Given the description of an element on the screen output the (x, y) to click on. 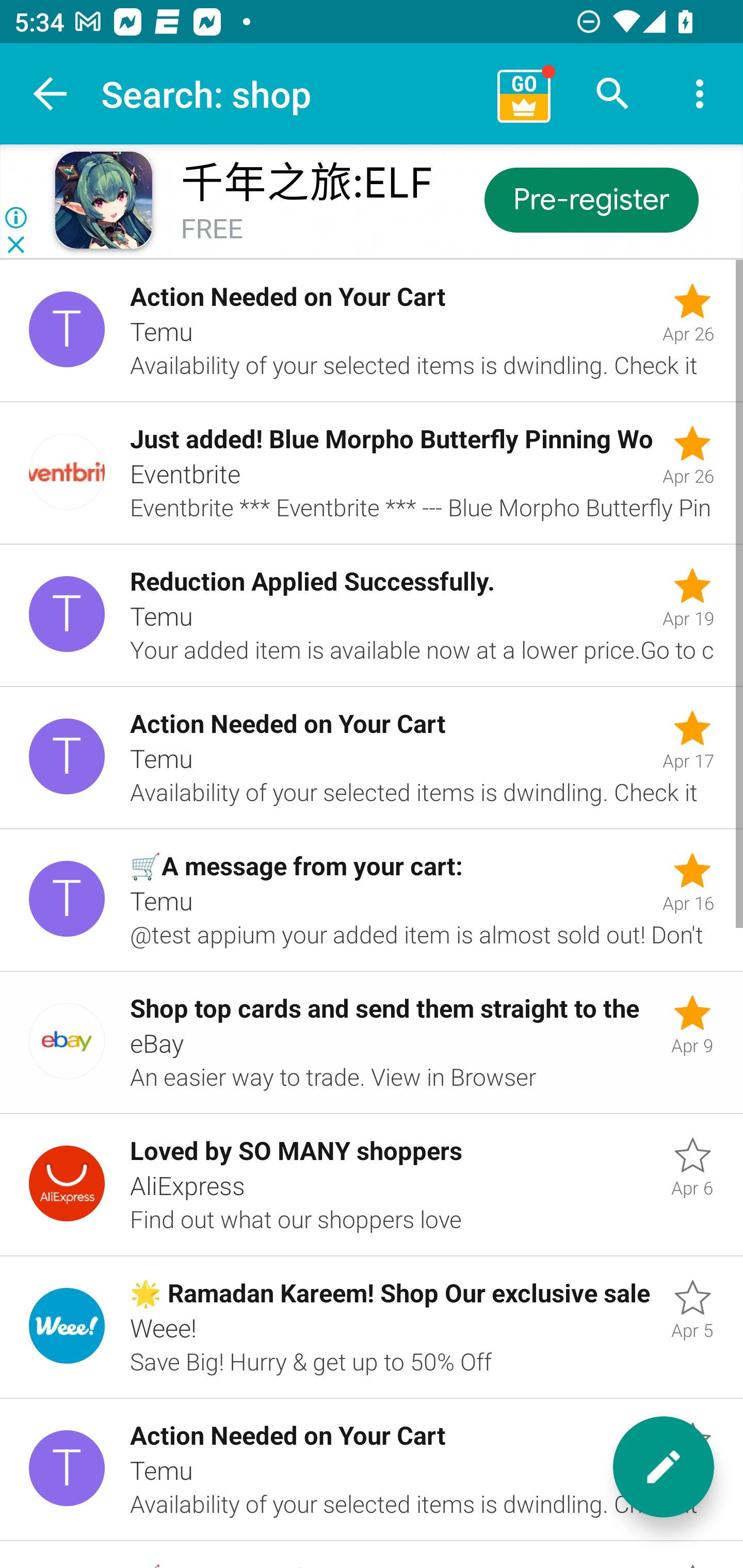
Navigate up (50, 93)
Search (612, 93)
More options (699, 93)
千年之旅:ELF (306, 183)
Pre-register (590, 199)
FREE (211, 230)
New message (663, 1466)
